Given the description of an element on the screen output the (x, y) to click on. 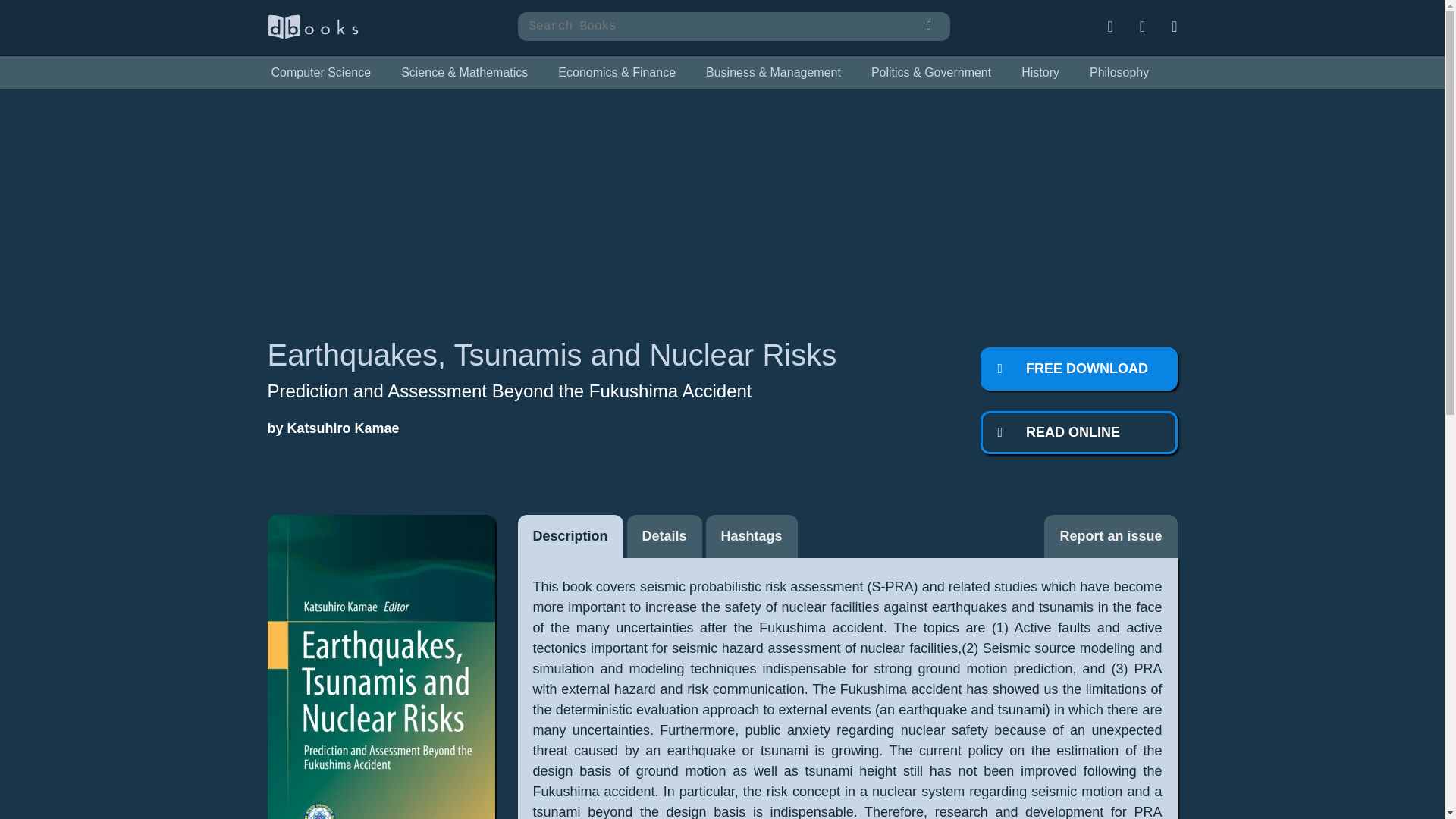
dBooks.org (312, 35)
Philosophy (1119, 72)
Economics and Finance (616, 72)
Business and Management (772, 72)
Report an issue (1109, 536)
FREE DOWNLOAD (1077, 368)
Hashtags (751, 536)
Computer Science (320, 72)
READ ONLINE (1077, 432)
Description (569, 536)
